Given the description of an element on the screen output the (x, y) to click on. 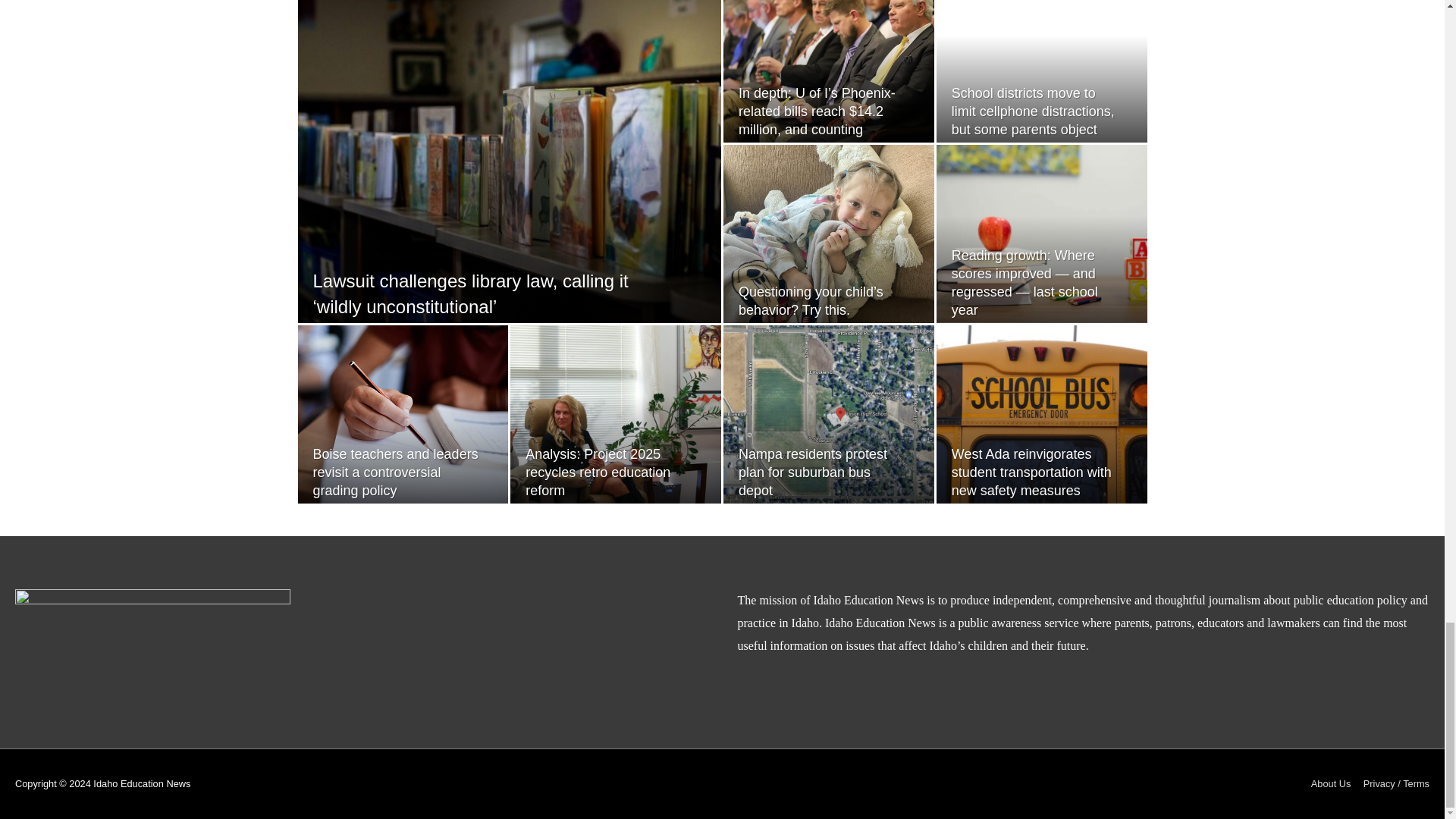
Analysis: Project 2025 recycles retro education reform (597, 471)
Nampa residents protest plan for suburban bus depot (812, 471)
